Given the description of an element on the screen output the (x, y) to click on. 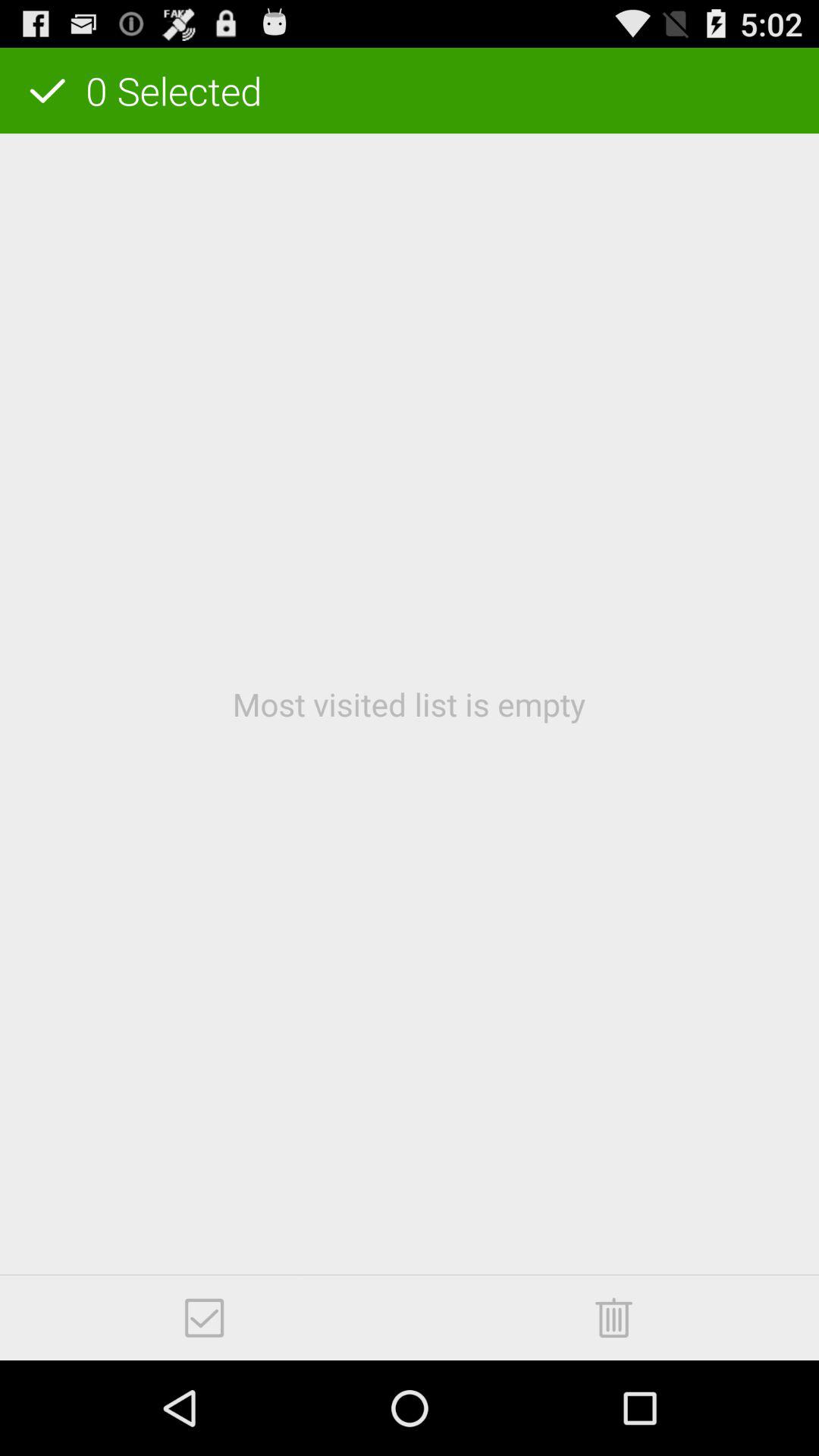
select all (204, 1317)
